Given the description of an element on the screen output the (x, y) to click on. 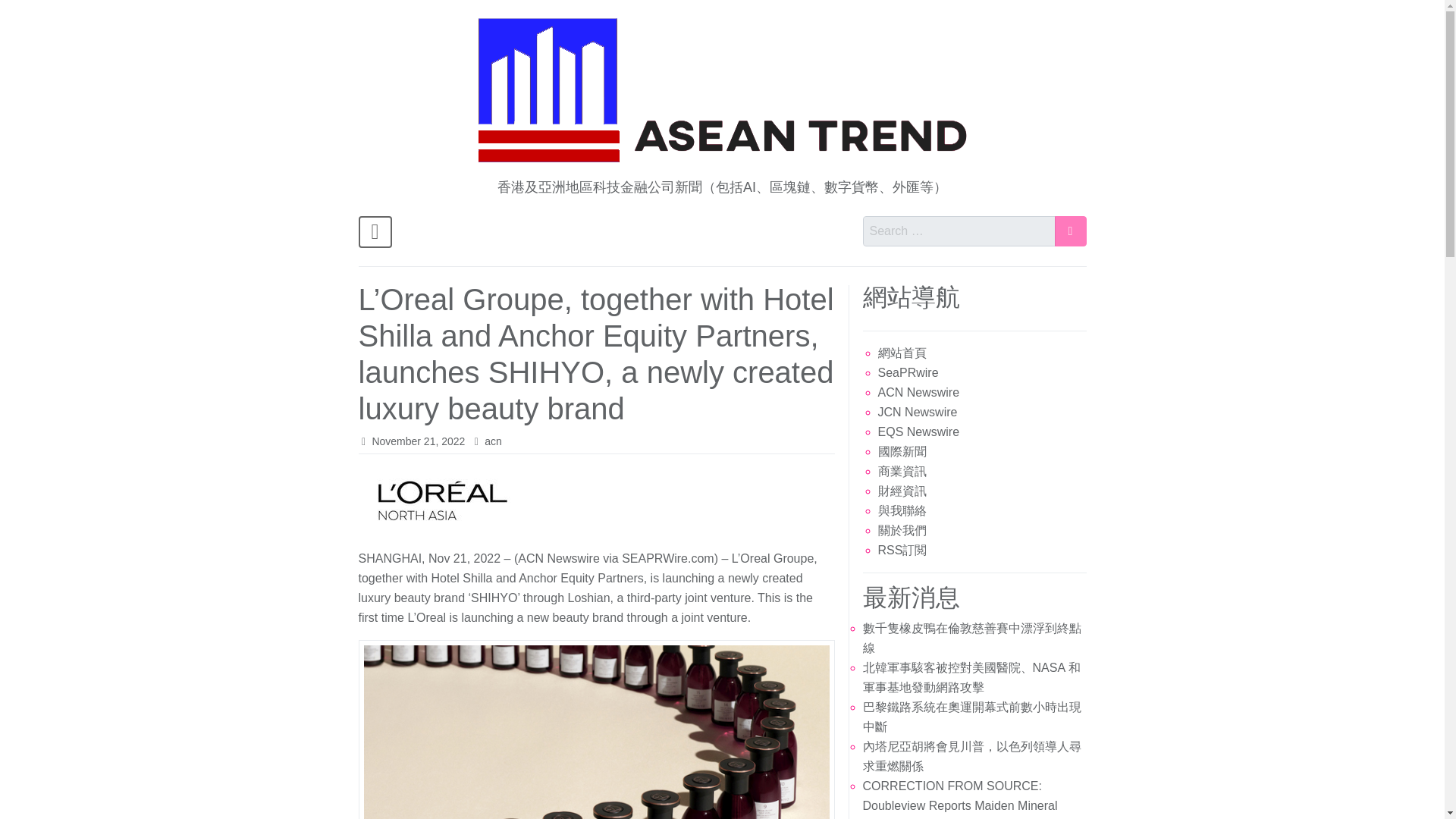
November 21, 2022 (417, 440)
SeaPRwire (908, 372)
Skip to content (367, 39)
ACN Newswire (918, 391)
JCN Newswire (917, 411)
acn (493, 440)
EQS Newswire (918, 431)
